Given the description of an element on the screen output the (x, y) to click on. 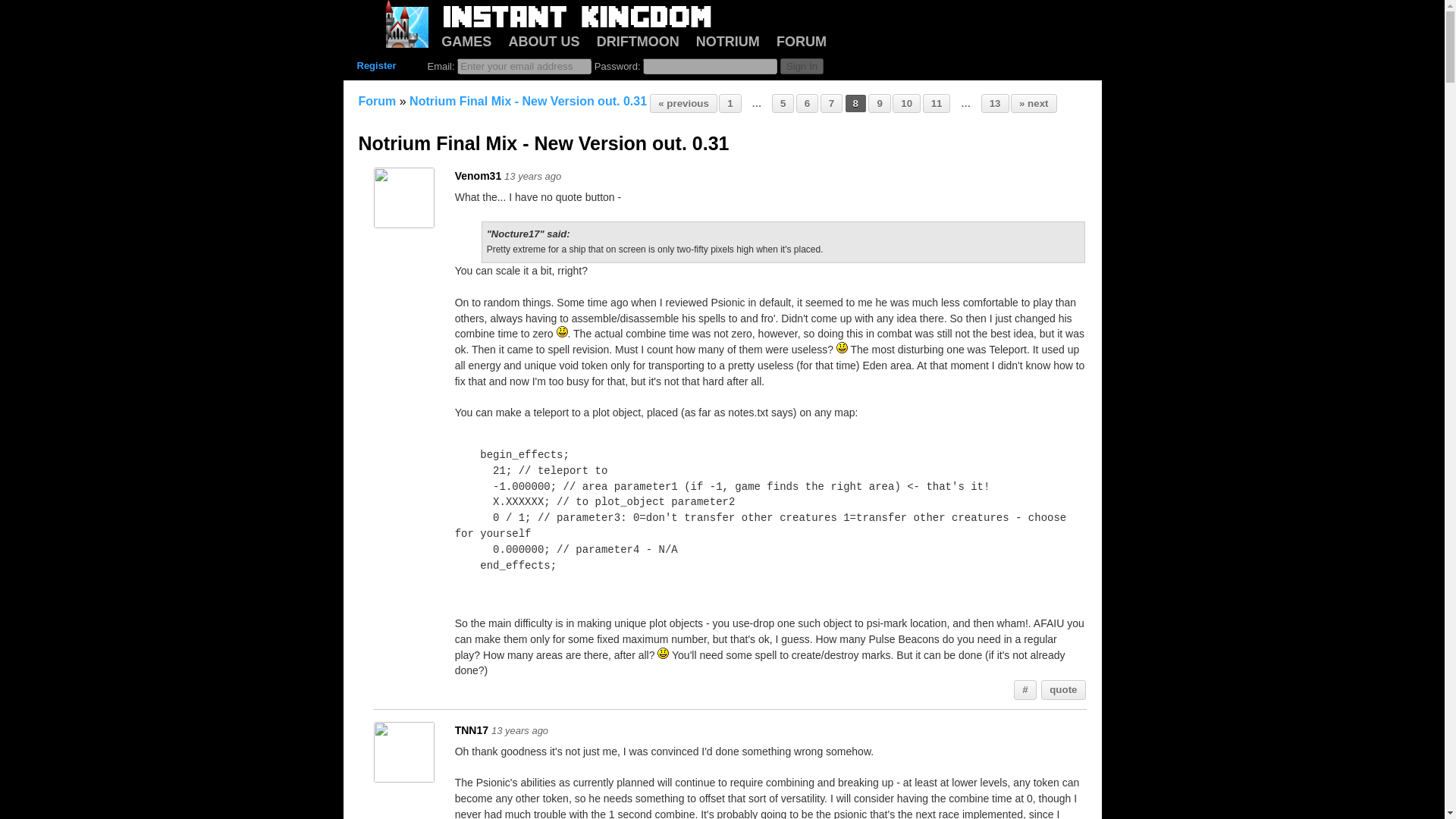
NOTRIUM (727, 41)
5 (783, 104)
11 (936, 104)
Sign In (802, 66)
ABOUT US (543, 41)
7 (831, 104)
9 (879, 104)
Notrium Final Mix - New Version out. 0.31 (527, 101)
Sign In (802, 66)
DRIFTMOON (637, 41)
6 (806, 104)
8 (855, 104)
quote (1063, 689)
GAMES (466, 41)
13 (995, 104)
